Given the description of an element on the screen output the (x, y) to click on. 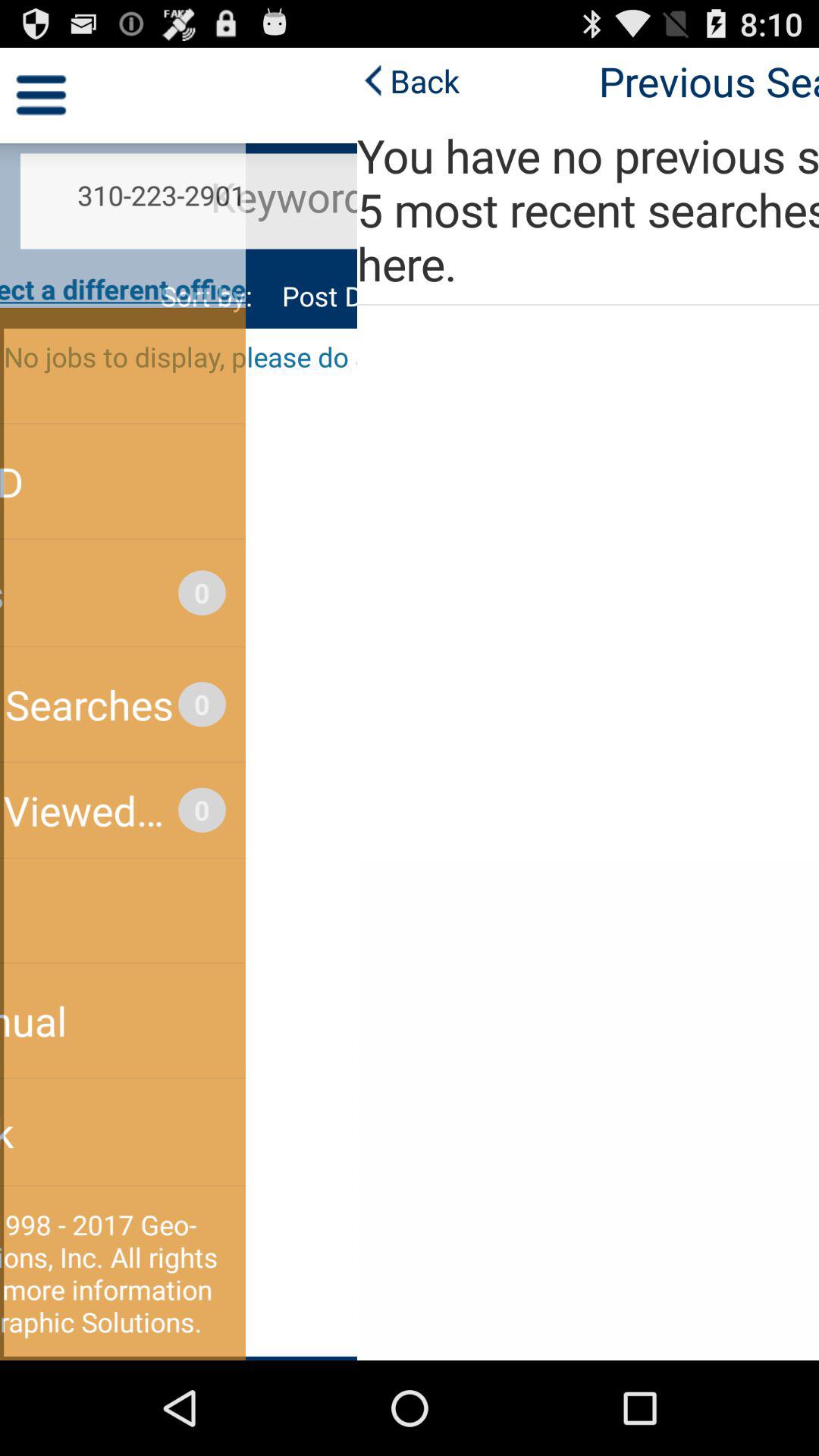
open icon next to previous searches (51, 80)
